Given the description of an element on the screen output the (x, y) to click on. 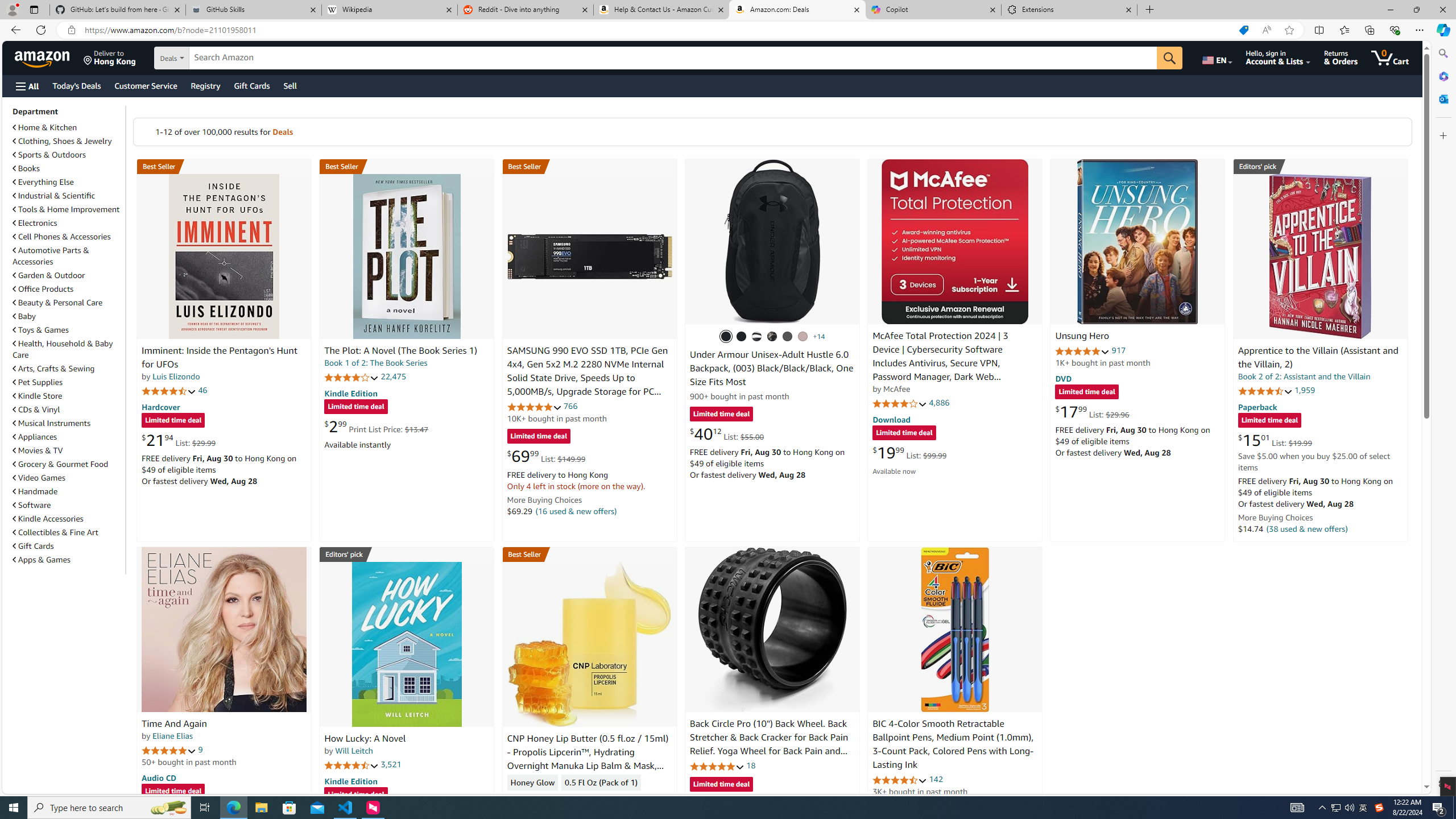
$21.94 List: $29.99 (178, 439)
Split screen (1318, 29)
Home & Kitchen (45, 127)
Books (67, 167)
Kindle Accessories (47, 518)
Eliane Elias (171, 735)
Automotive Parts & Accessories (67, 255)
Arts, Crafts & Sewing (67, 368)
Sell (290, 85)
How Lucky: A Novel (405, 644)
Address and search bar (658, 29)
18 (750, 764)
